Given the description of an element on the screen output the (x, y) to click on. 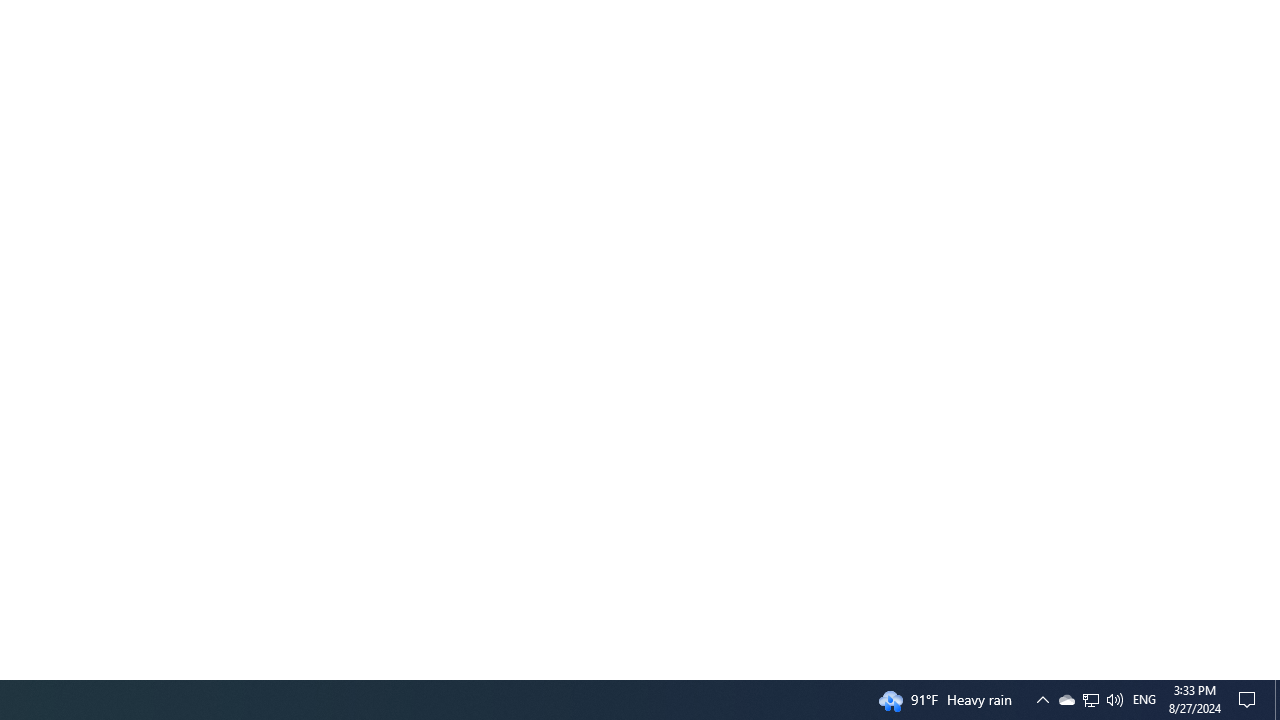
Q2790: 100% (1114, 699)
Action Center, No new notifications (1091, 699)
Tray Input Indicator - English (United States) (1066, 699)
Show desktop (1250, 699)
Notification Chevron (1144, 699)
User Promoted Notification Area (1277, 699)
